Given the description of an element on the screen output the (x, y) to click on. 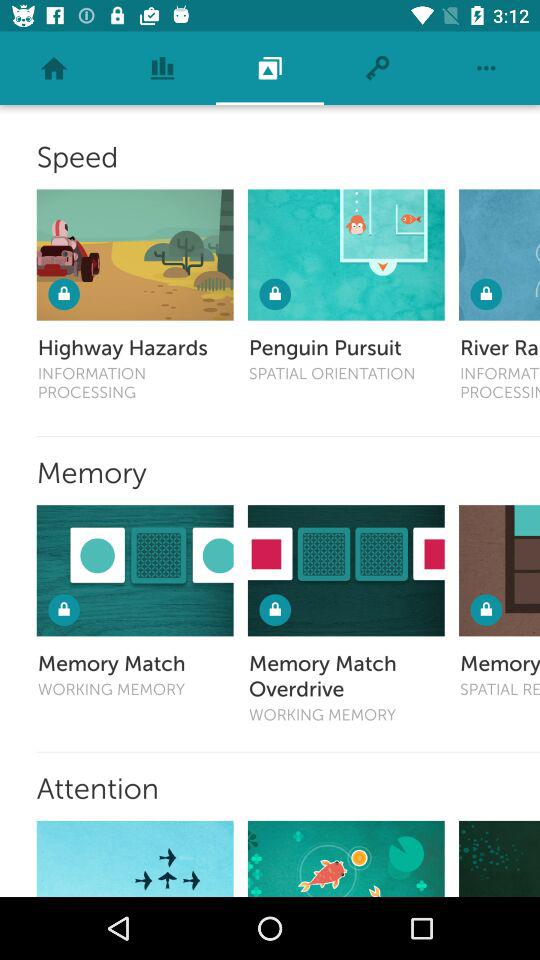
picture showing app (345, 570)
